Given the description of an element on the screen output the (x, y) to click on. 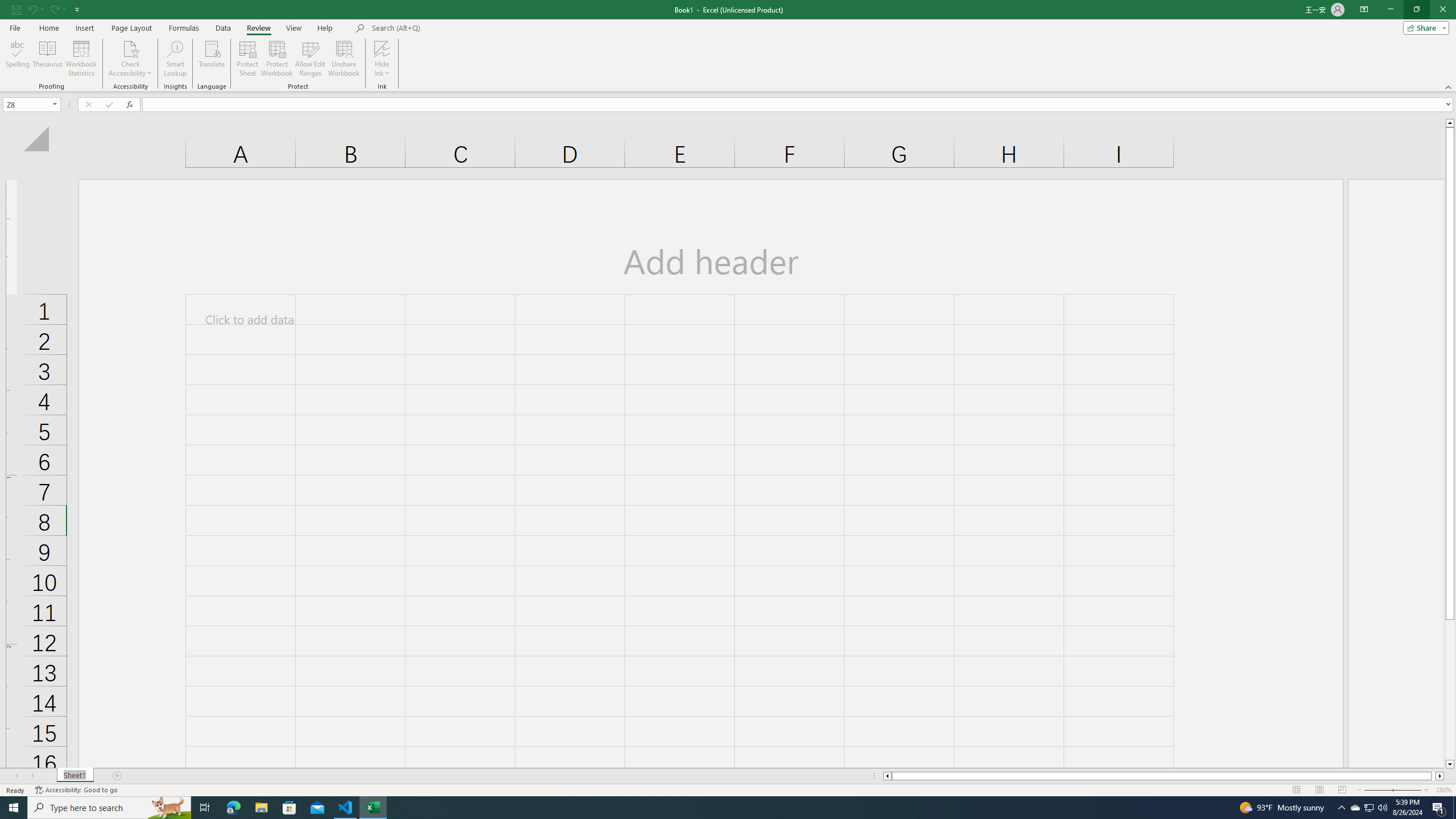
Unshare Workbook (344, 58)
Protect Sheet... (247, 58)
